Given the description of an element on the screen output the (x, y) to click on. 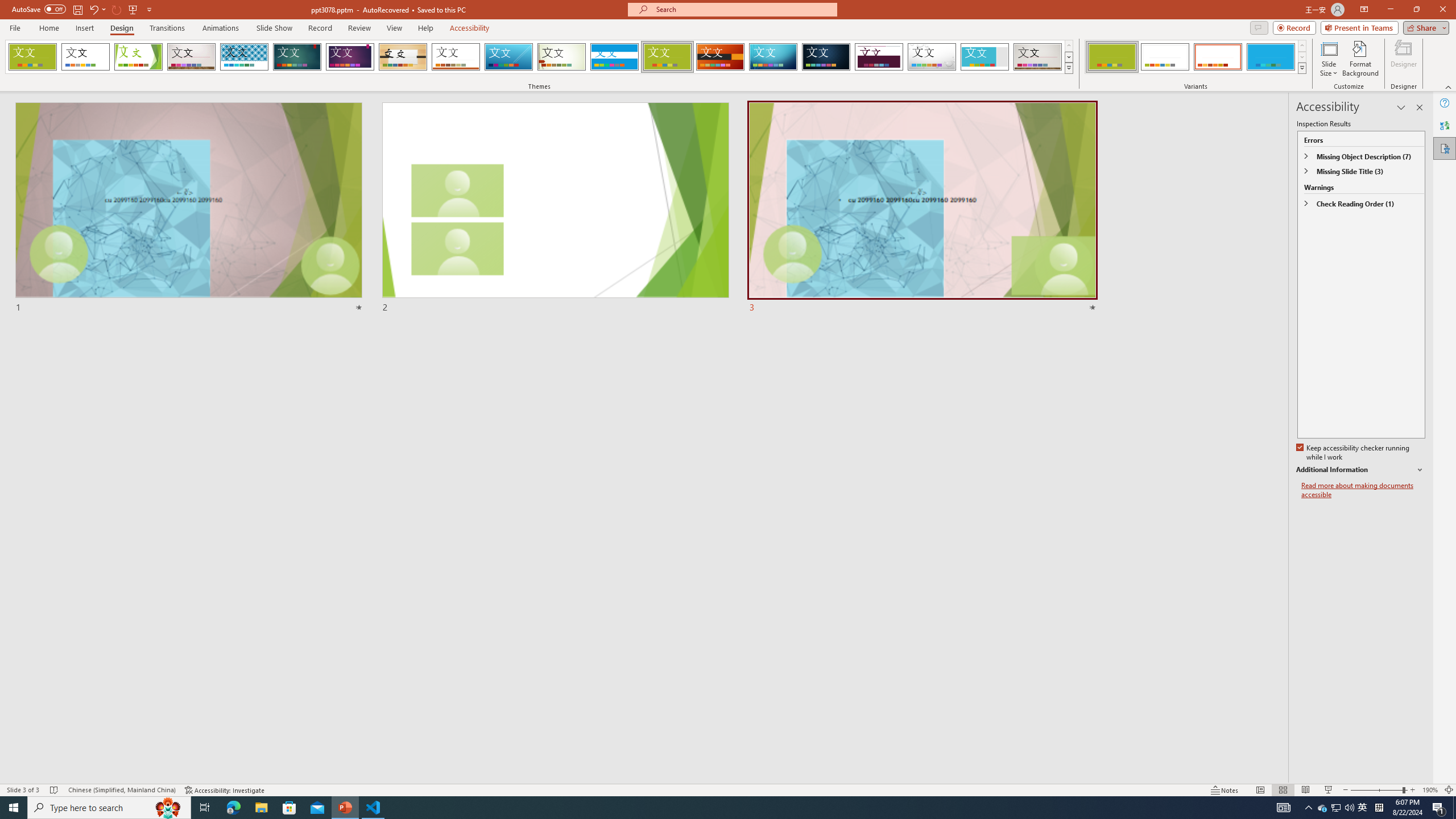
Integral (244, 56)
Gallery (1037, 56)
Zoom 190% (1430, 790)
Variants (1301, 67)
Ion Boardroom (350, 56)
Slice (508, 56)
